Given the description of an element on the screen output the (x, y) to click on. 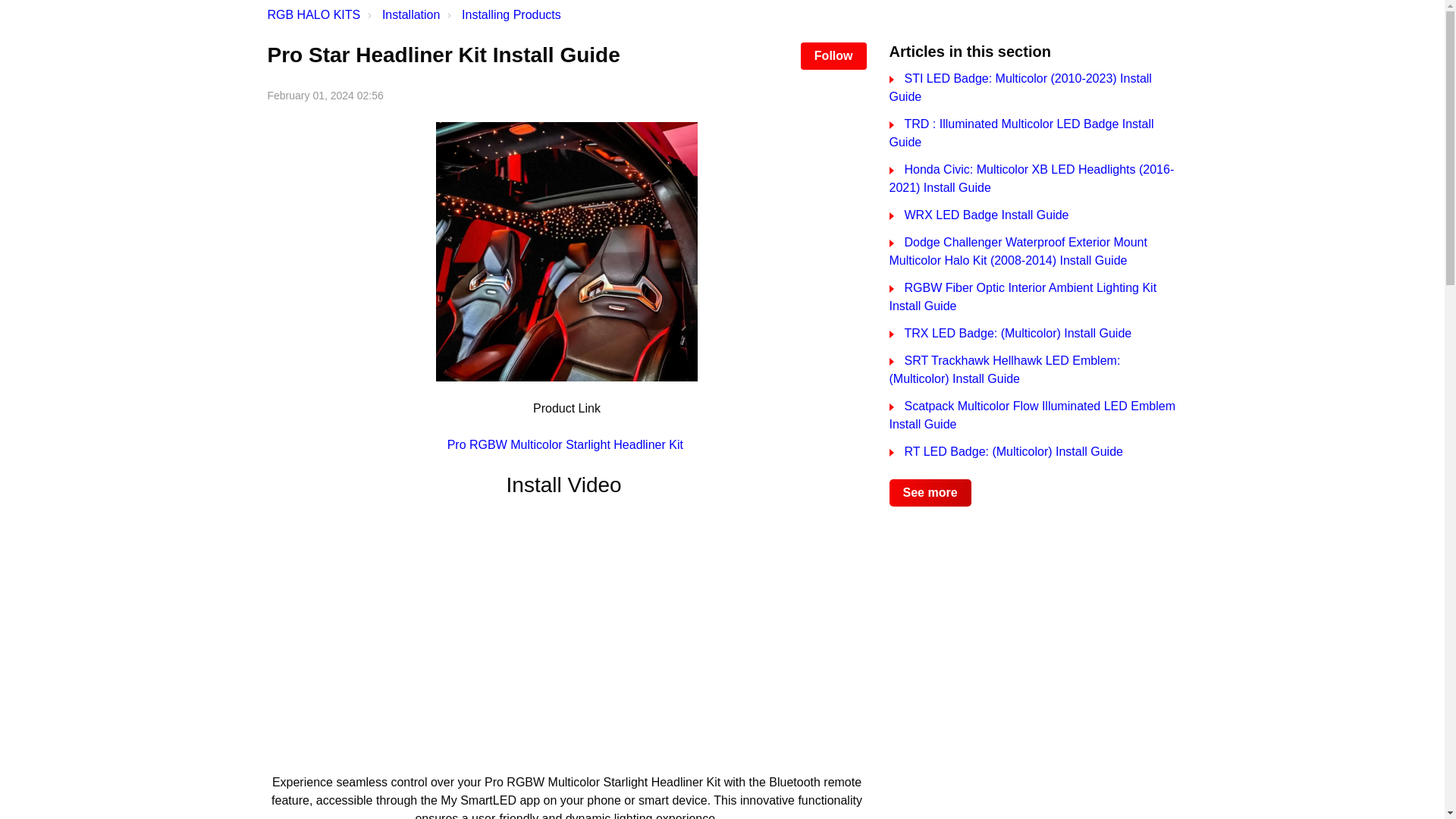
Installing Products (510, 14)
2024-02-01 02:56 (324, 95)
RGB HALO KITS (312, 14)
Installation  (402, 14)
Pro RGBW Multicolor Starlight Headliner Kit  (566, 444)
Opens a widget where you can find more information (1386, 792)
RGB HALO KITS  (312, 14)
TRD : Illuminated Multicolor LED Badge Install Guide (1020, 133)
RGBW Fiber Optic Interior Ambient Lighting Kit Install Guide (1022, 296)
See more (929, 492)
Installing Products  (502, 14)
Follow (833, 55)
WRX LED Badge Install Guide (978, 214)
Installation (411, 14)
